Given the description of an element on the screen output the (x, y) to click on. 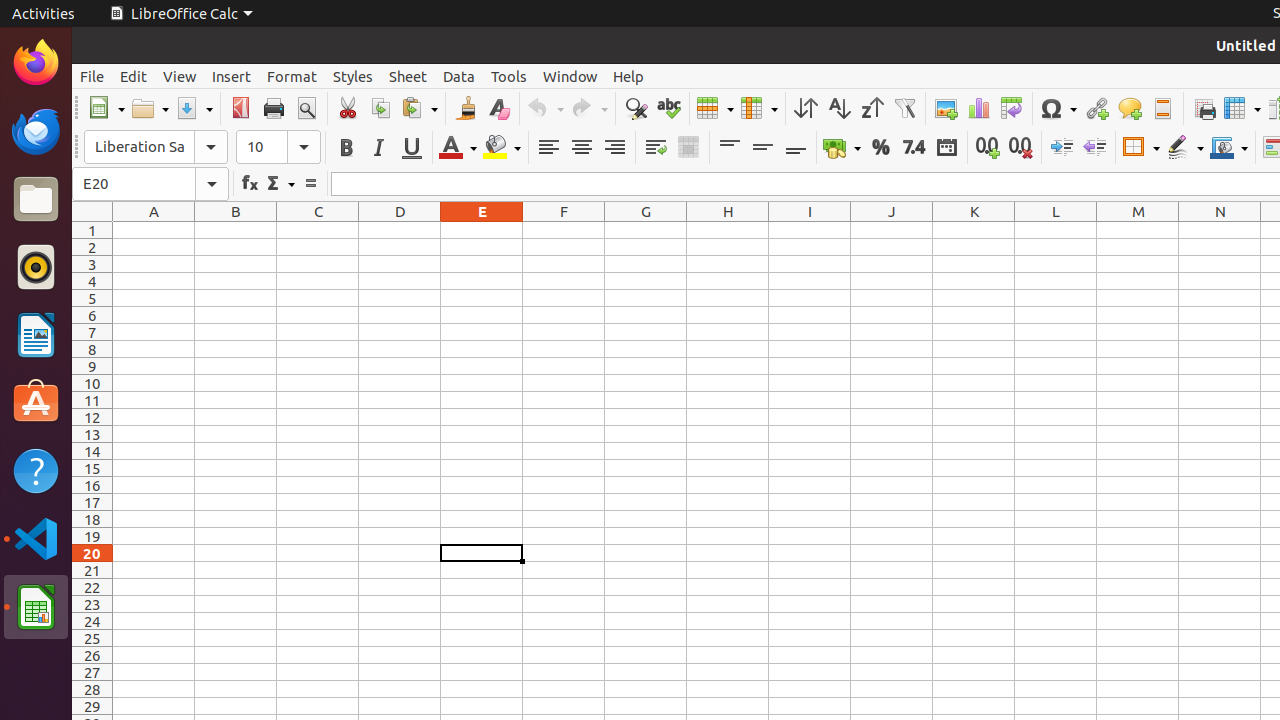
Print Area Element type: push-button (1203, 108)
Headers and Footers Element type: push-button (1162, 108)
Print Preview Element type: toggle-button (306, 108)
Save Element type: push-button (194, 108)
N1 Element type: table-cell (1220, 230)
